Given the description of an element on the screen output the (x, y) to click on. 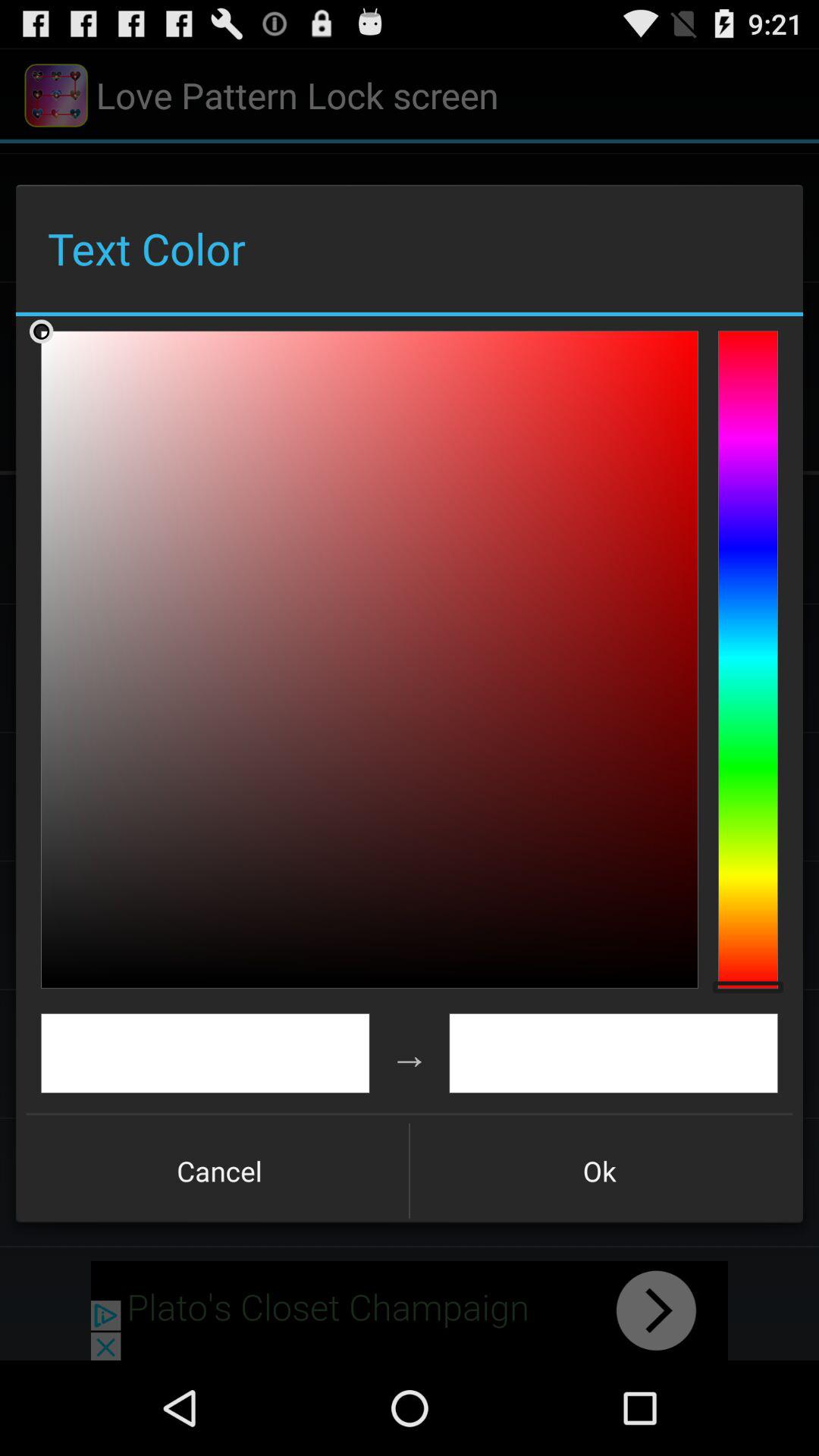
jump until ok item (599, 1170)
